Given the description of an element on the screen output the (x, y) to click on. 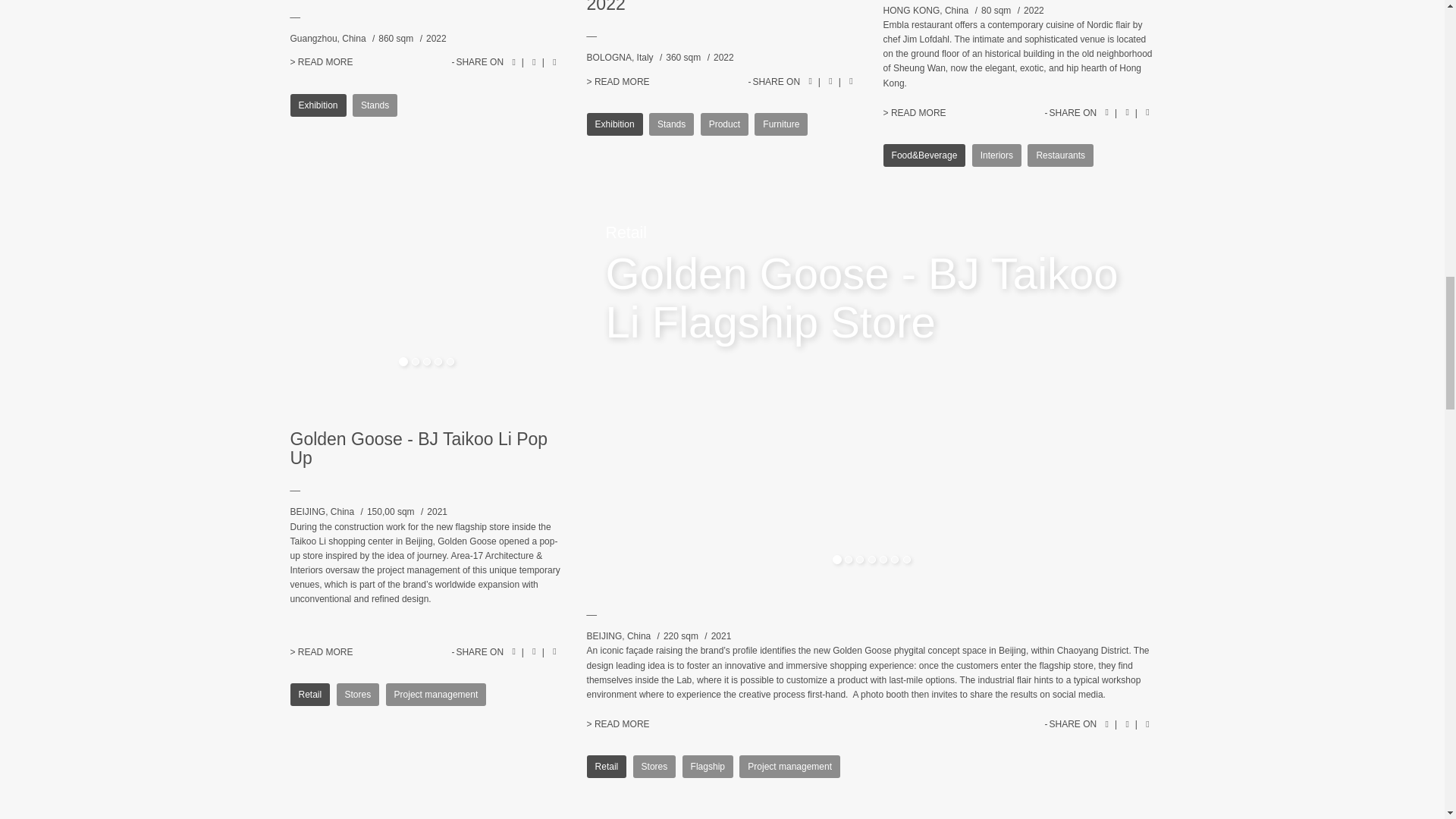
Golden Goose - BJ Taikoo Li Pop Up (320, 652)
Illusion Reality Exhibition (320, 61)
Iris Ceramica Group - Cersaie 2022 (617, 81)
Embla Nordic Fine Dining (914, 112)
